Given the description of an element on the screen output the (x, y) to click on. 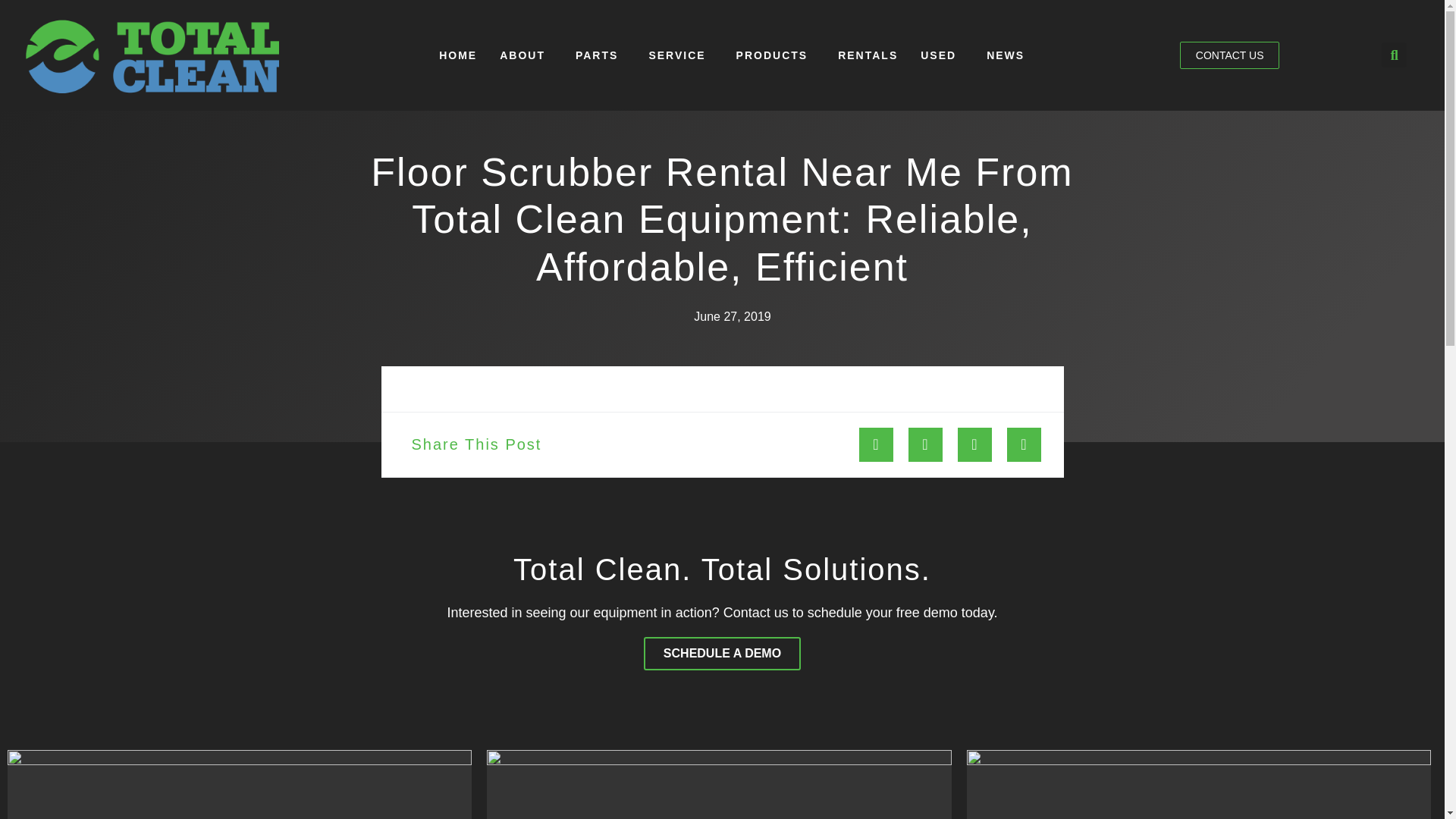
PARTS (600, 55)
SCHEDULE A DEMO (721, 653)
CONTACT US (1229, 54)
June 27, 2019 (721, 316)
ABOUT (525, 55)
NEWS (1005, 55)
SERVICE (680, 55)
RENTALS (867, 55)
HOME (457, 55)
USED (941, 55)
PRODUCTS (776, 55)
